Given the description of an element on the screen output the (x, y) to click on. 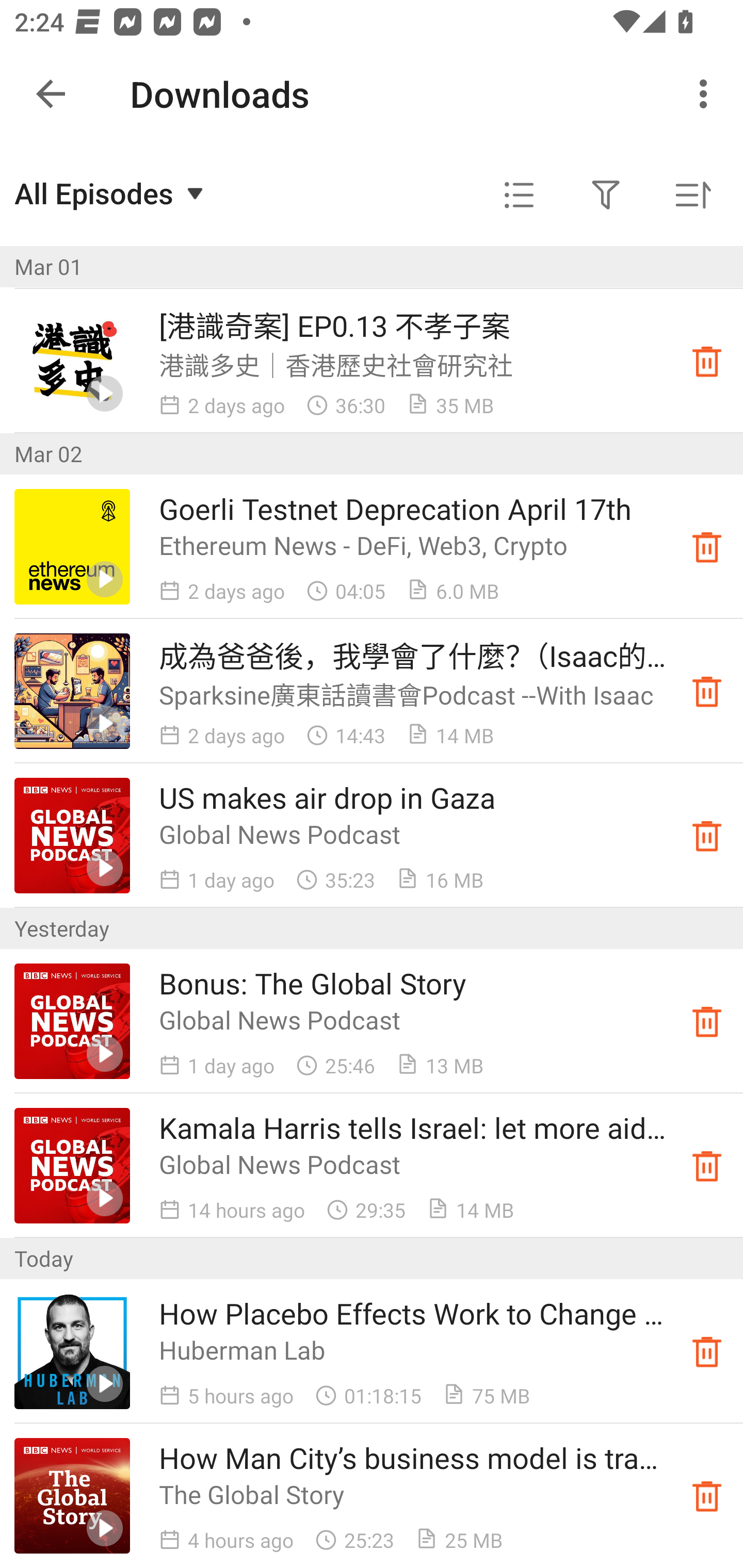
Navigate up (50, 93)
More options (706, 93)
All Episodes (111, 192)
 (518, 195)
 (605, 195)
 Sorted by oldest first (692, 195)
Downloaded (706, 360)
Downloaded (706, 546)
Downloaded (706, 691)
Downloaded (706, 835)
Downloaded (706, 1021)
Downloaded (706, 1165)
Downloaded (706, 1351)
Downloaded (706, 1495)
